Given the description of an element on the screen output the (x, y) to click on. 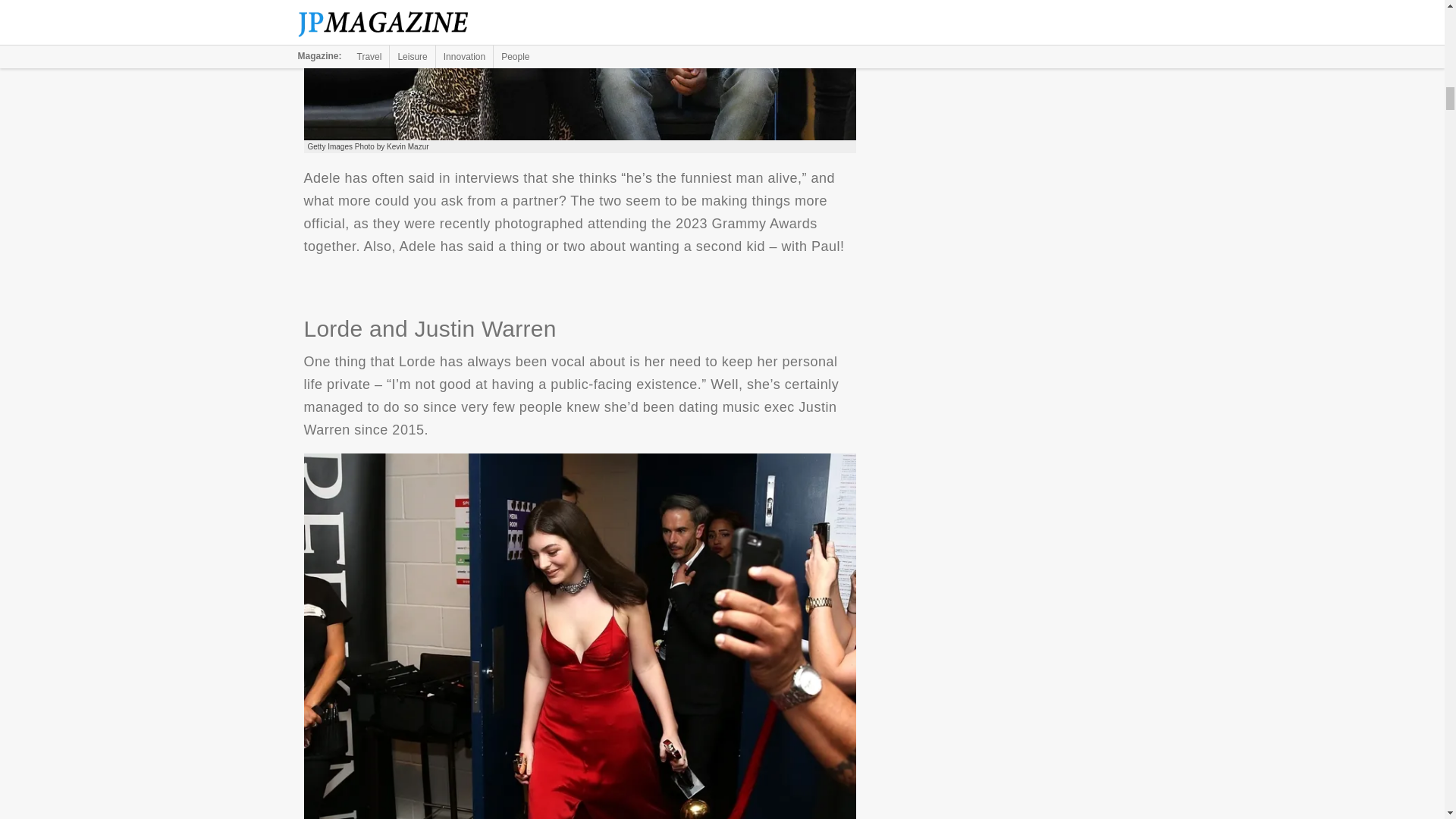
Adele and Rich Paul (579, 70)
